Given the description of an element on the screen output the (x, y) to click on. 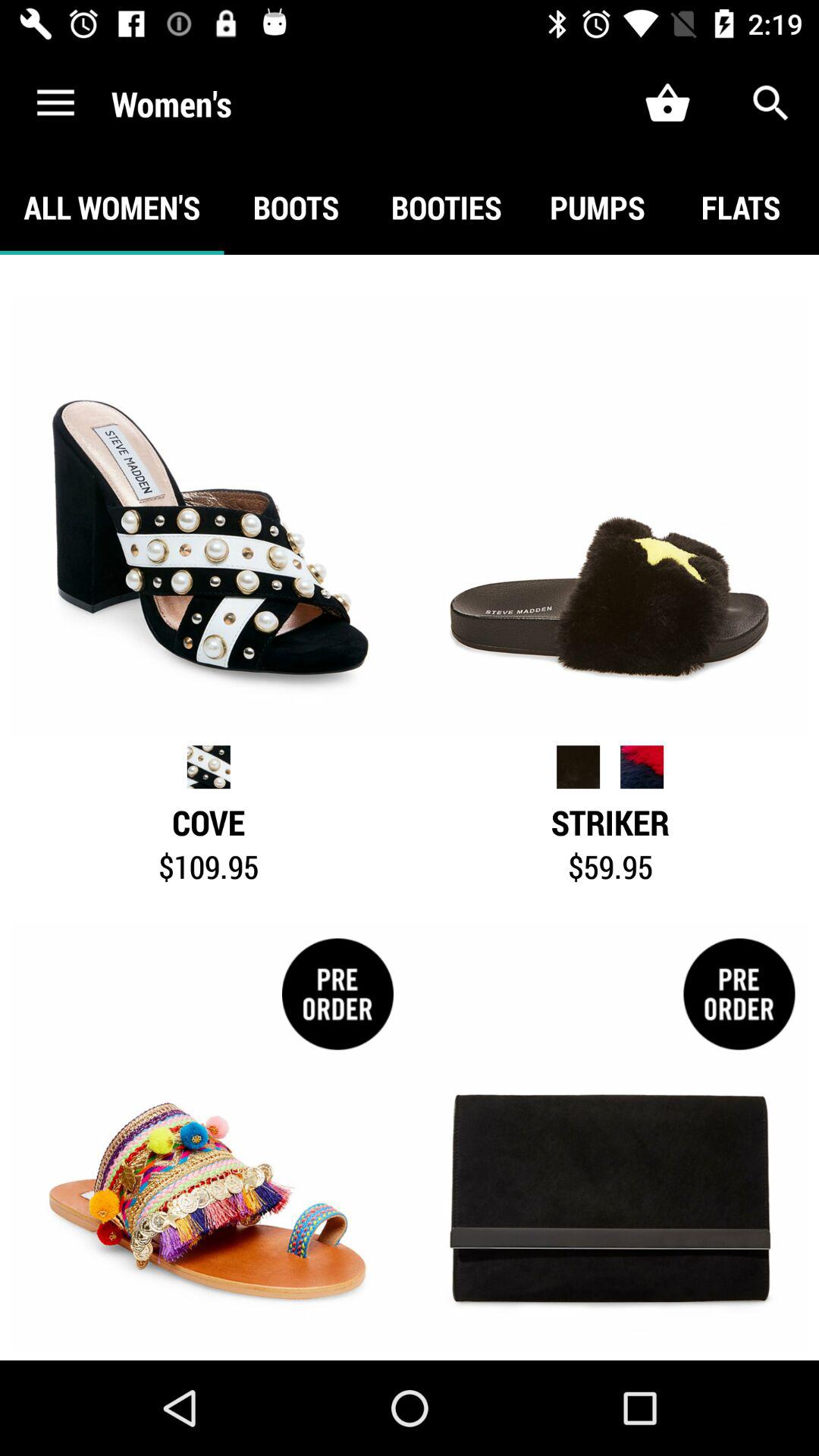
choose icon to the left of women's (55, 103)
